Given the description of an element on the screen output the (x, y) to click on. 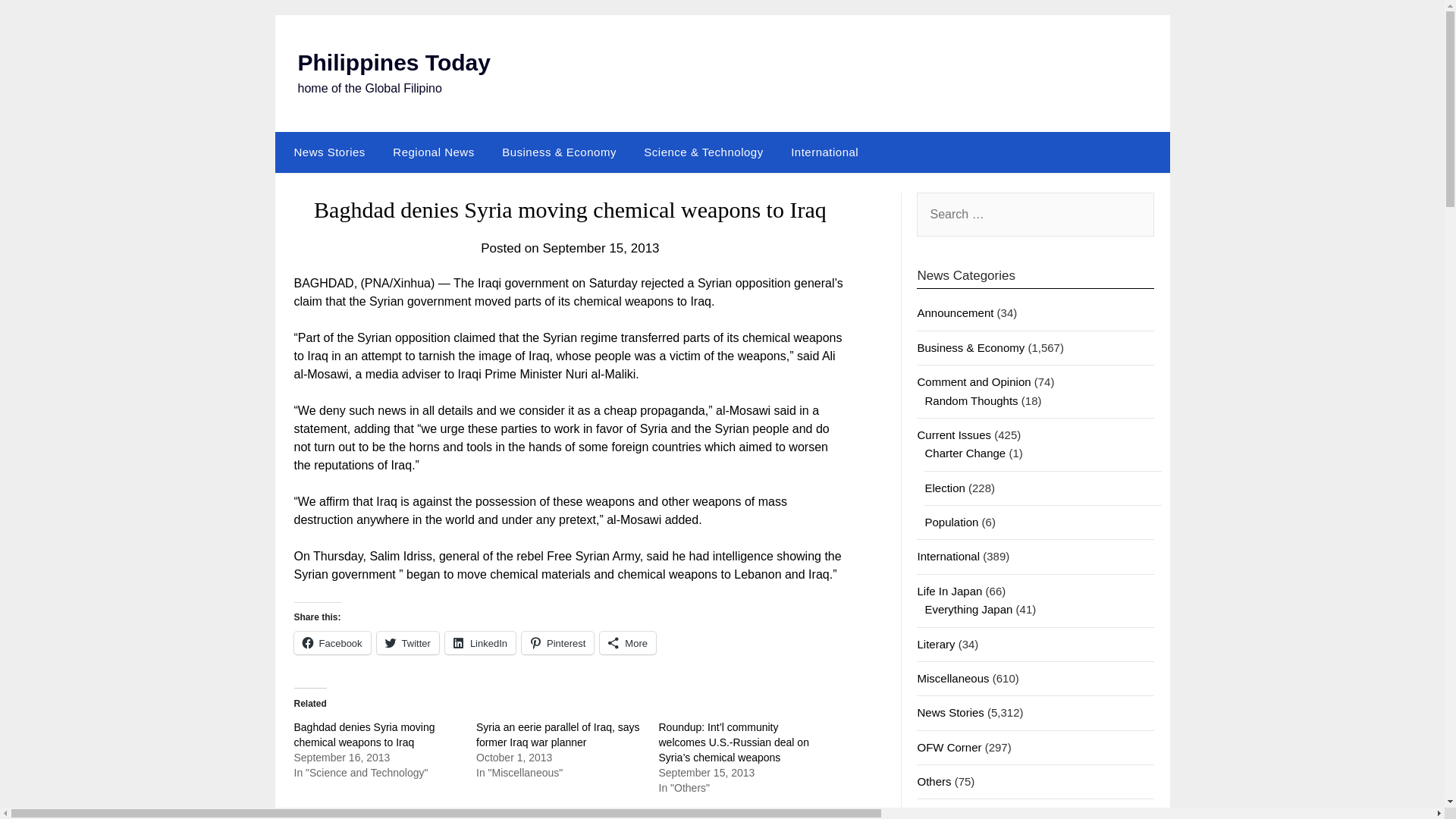
Regional News (433, 151)
Random Thoughts (970, 400)
Click to share on Pinterest (557, 642)
OFW Corner (949, 747)
More (627, 642)
Population (951, 521)
People (934, 814)
Others (933, 780)
Miscellaneous (952, 677)
International (824, 151)
